Given the description of an element on the screen output the (x, y) to click on. 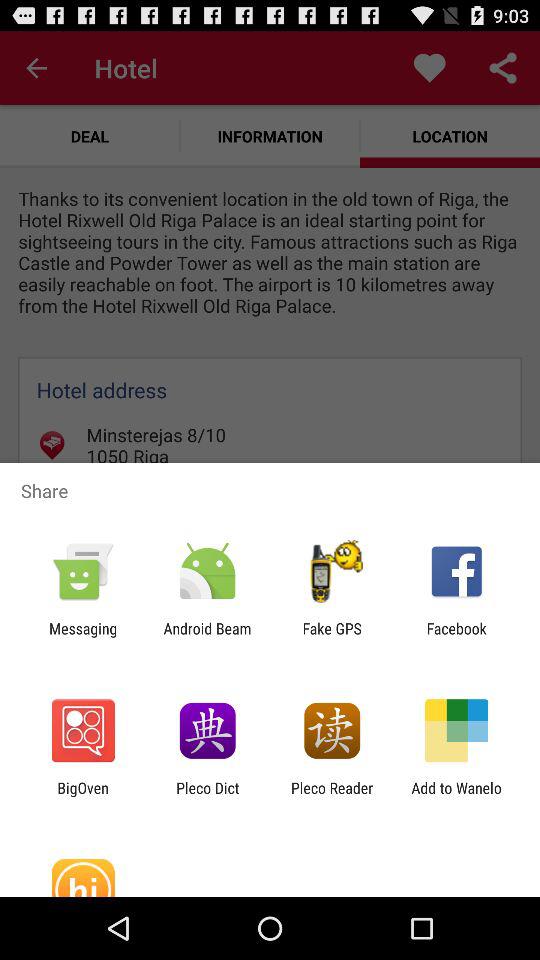
choose app to the left of add to wanelo app (331, 796)
